Given the description of an element on the screen output the (x, y) to click on. 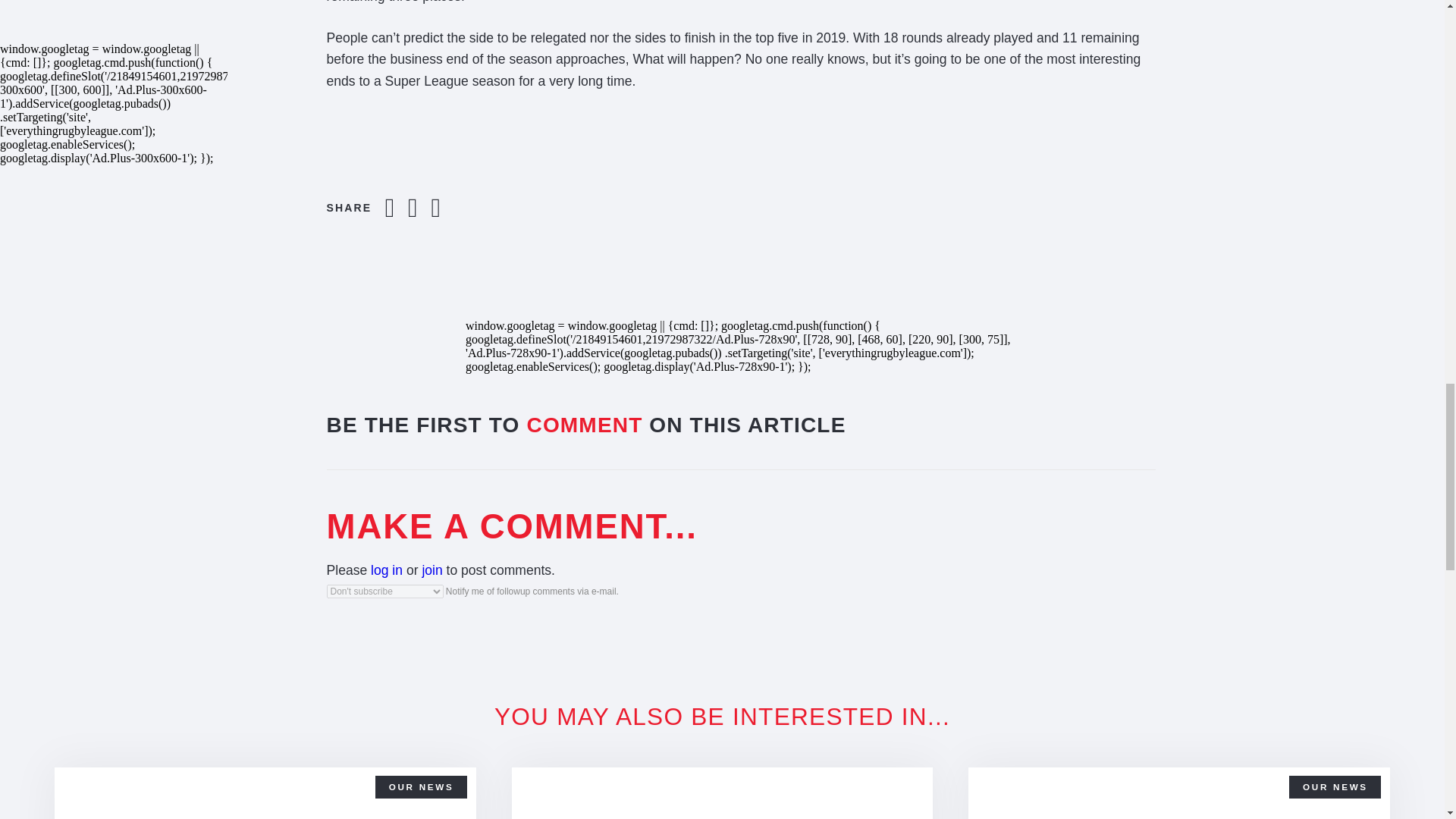
join (432, 570)
log in (387, 570)
OUR NEWS (421, 786)
